Given the description of an element on the screen output the (x, y) to click on. 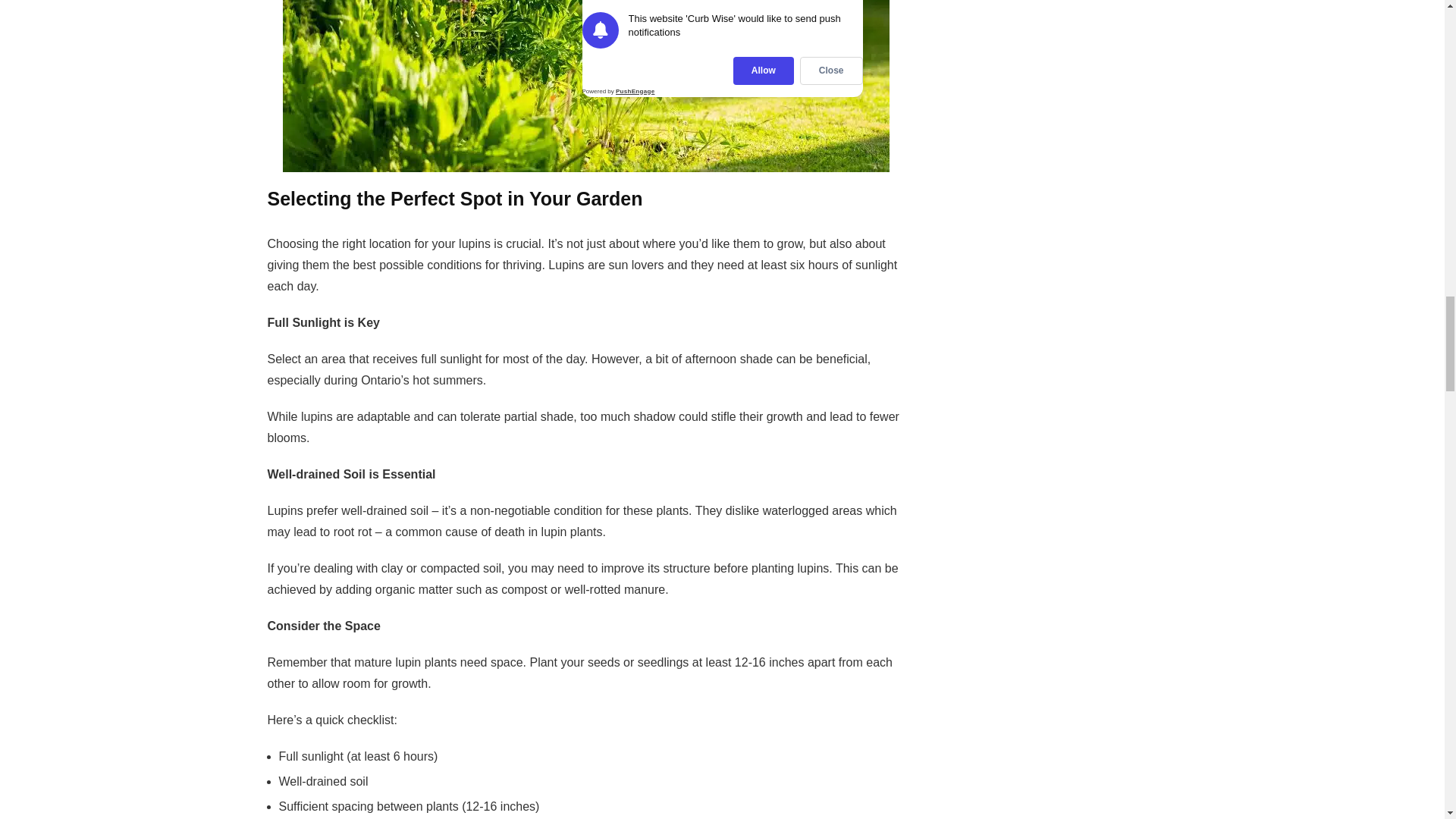
Growing Lupins in Ontario: My Expert Tips for Success 2 (585, 85)
